Given the description of an element on the screen output the (x, y) to click on. 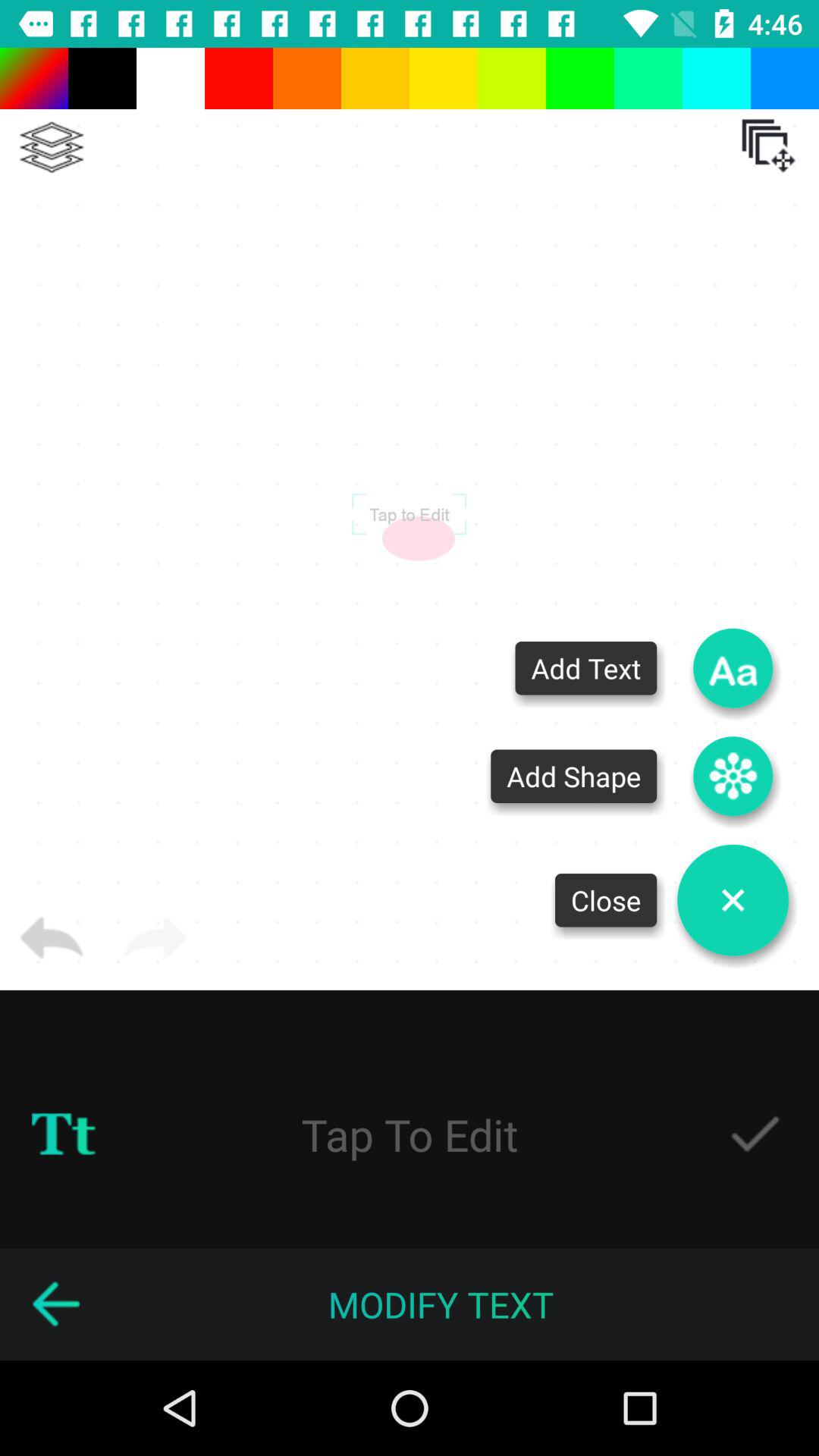
undo (51, 938)
